Given the description of an element on the screen output the (x, y) to click on. 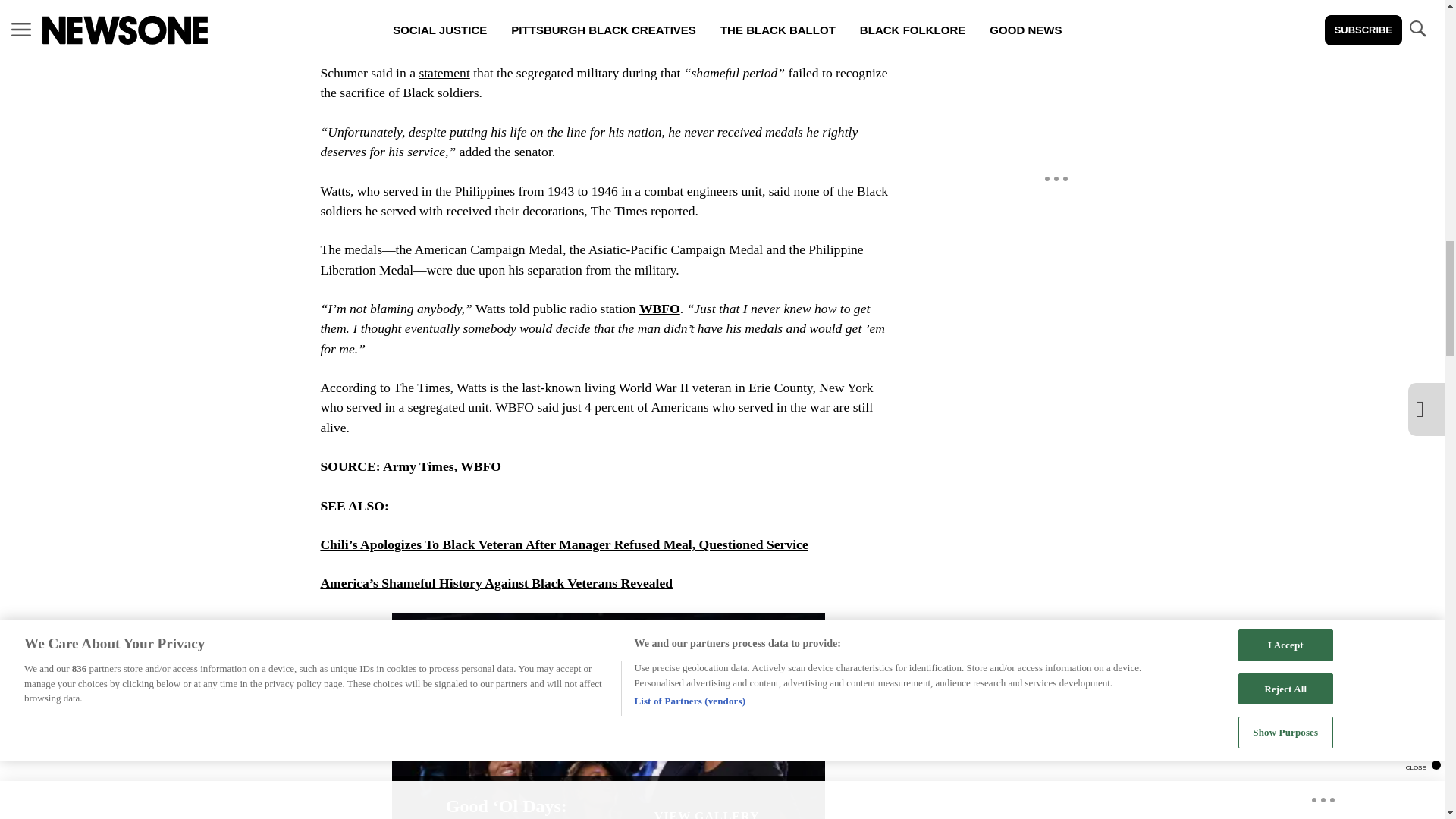
WBFO (480, 466)
statement (443, 72)
WBFO (659, 308)
Media Playlist (461, 646)
Army Times (418, 466)
